Given the description of an element on the screen output the (x, y) to click on. 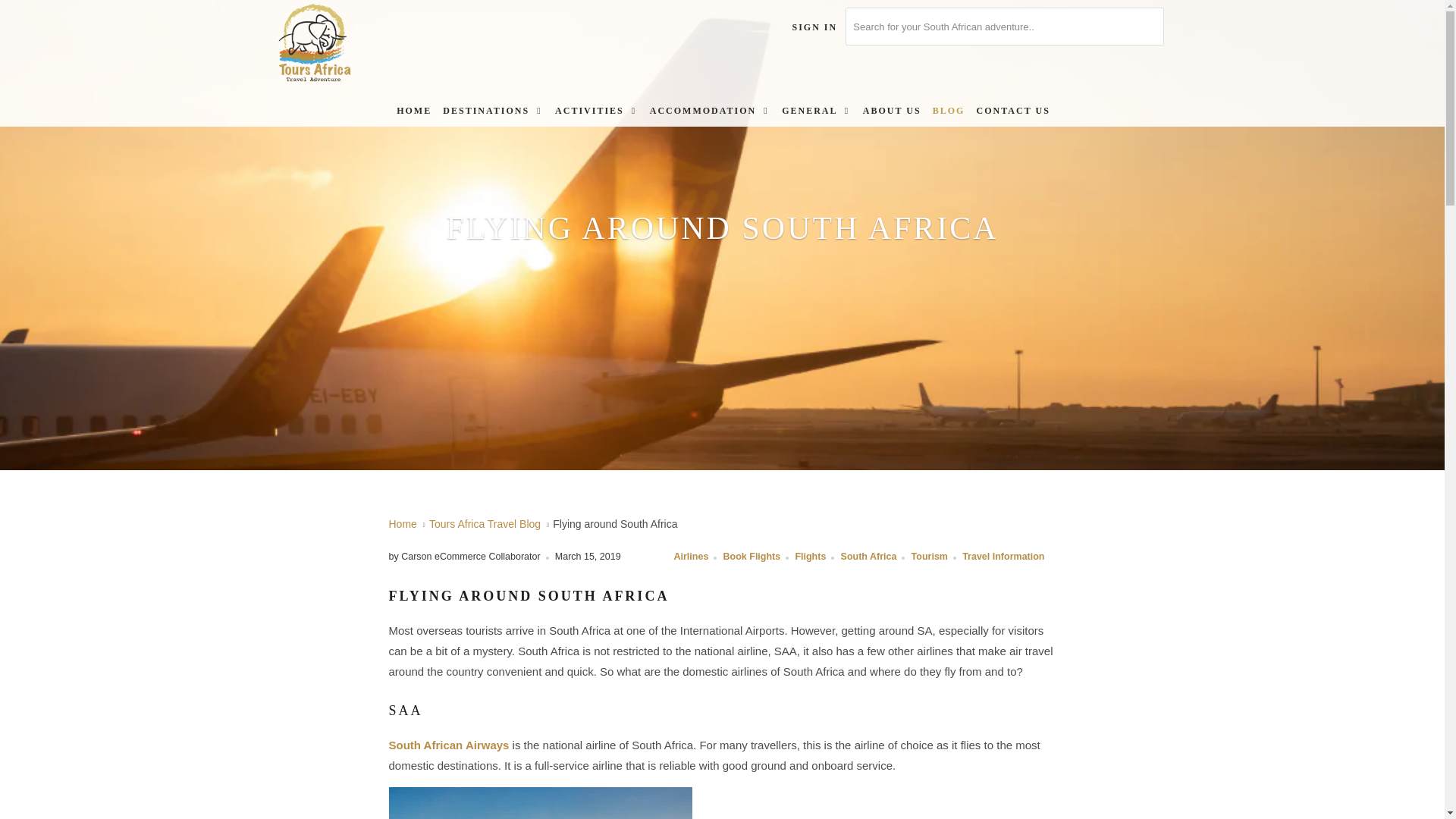
Tours Africa Travel Blog tagged Airlines (689, 556)
Tours Africa Travel Blog tagged South Africa (868, 556)
Tours Africa (402, 523)
Tours Africa Travel Blog tagged Tourism (929, 556)
Tours Africa Travel Blog tagged Book Flights (751, 556)
Tours Africa Travel Blog tagged Travel Information (1002, 556)
My Account  (814, 27)
Tours Africa Travel Blog (484, 523)
Tours Africa (352, 43)
Tours Africa Travel Blog tagged Flights (809, 556)
